Given the description of an element on the screen output the (x, y) to click on. 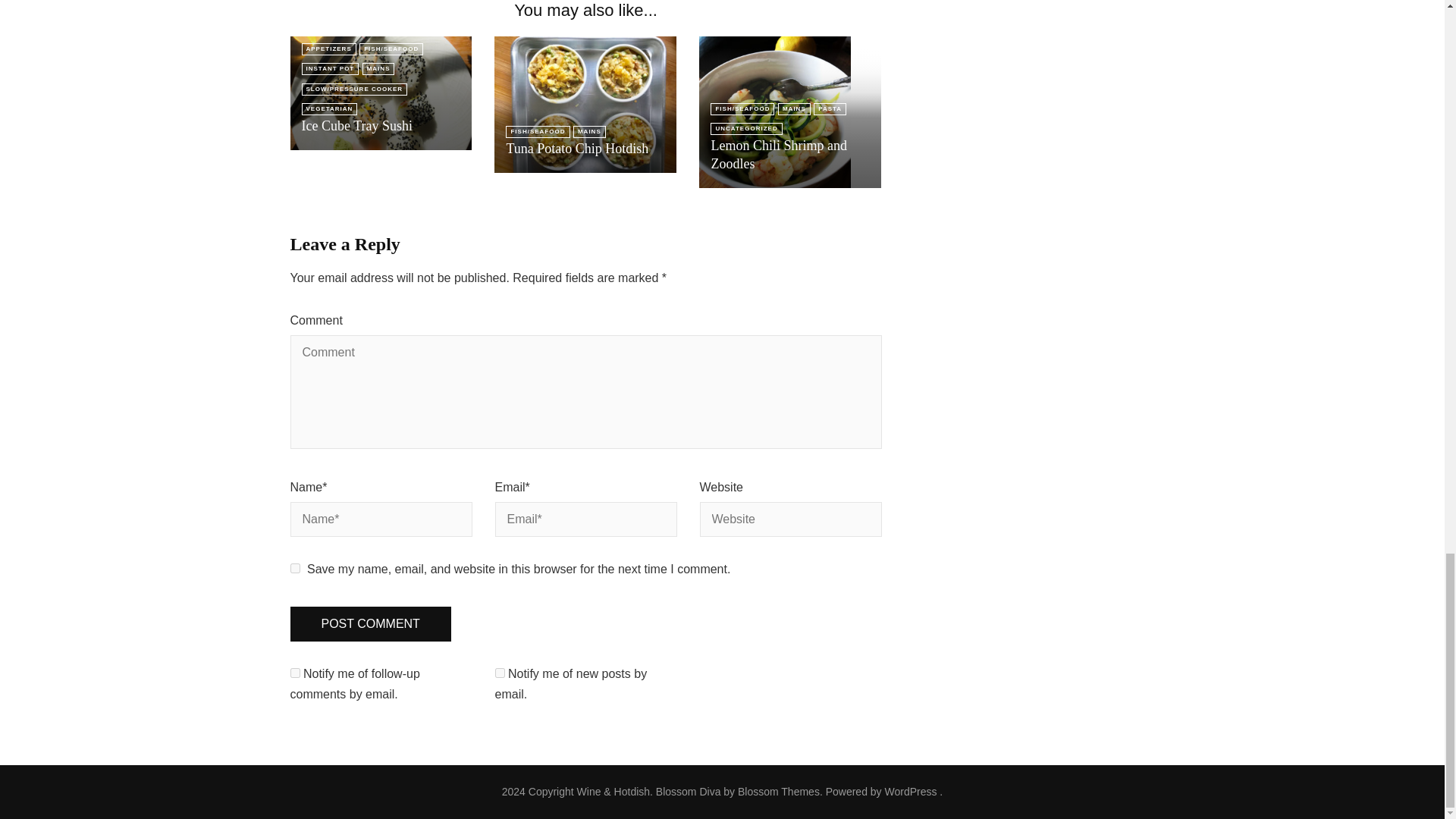
INSTANT POT (330, 69)
subscribe (294, 673)
yes (294, 568)
MAINS (378, 69)
APPETIZERS (328, 49)
Post Comment (369, 624)
subscribe (499, 673)
